Given the description of an element on the screen output the (x, y) to click on. 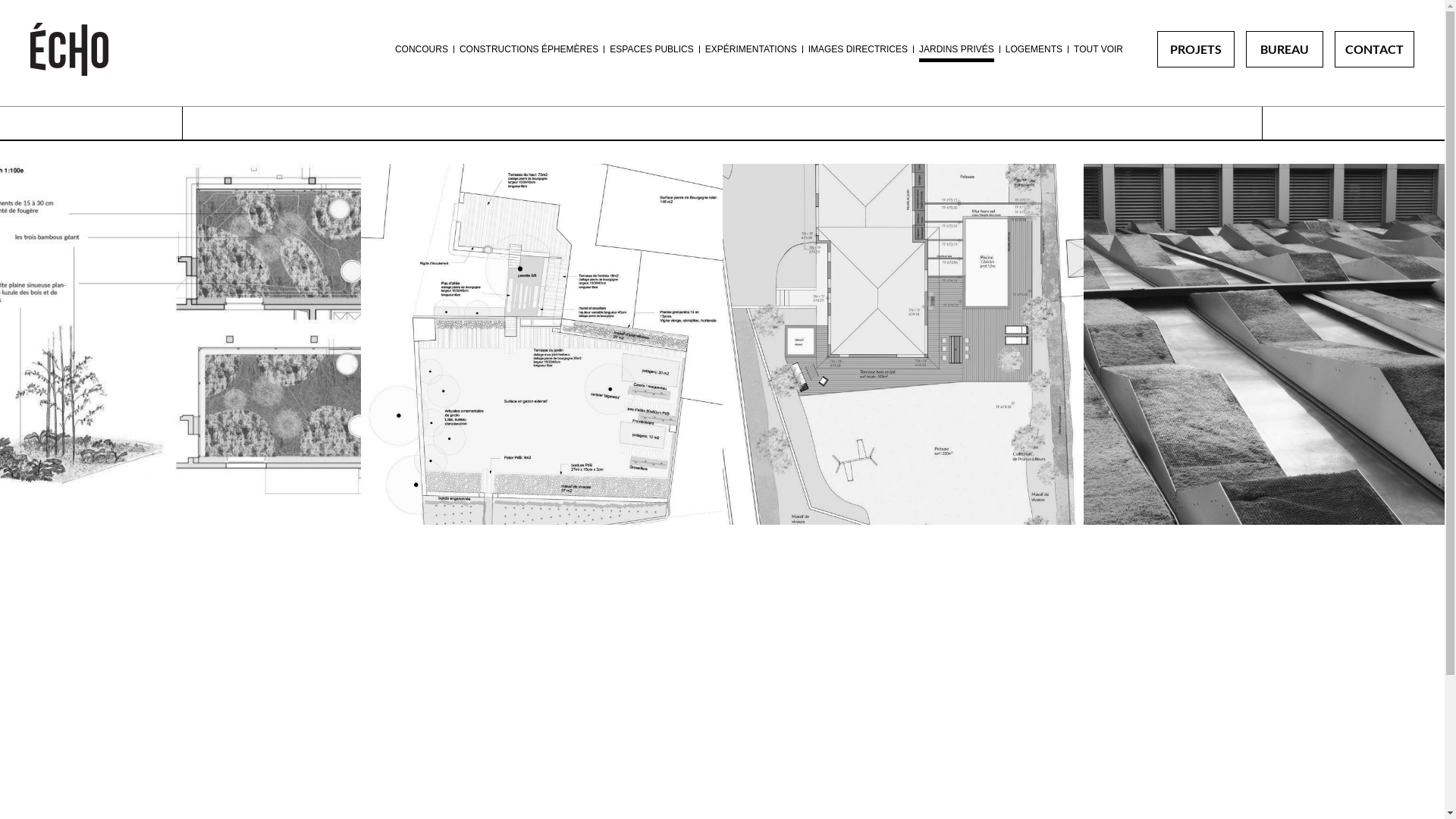
LOGEMENTS Element type: text (1033, 48)
CONCOURS Element type: text (421, 48)
PROJETS Element type: text (1195, 48)
ESPACES PUBLICS Element type: text (651, 48)
BUREAU Element type: text (1284, 48)
IMAGES DIRECTRICES Element type: text (857, 48)
CONTACT Element type: text (1374, 48)
TOUT VOIR Element type: text (1098, 48)
